Given the description of an element on the screen output the (x, y) to click on. 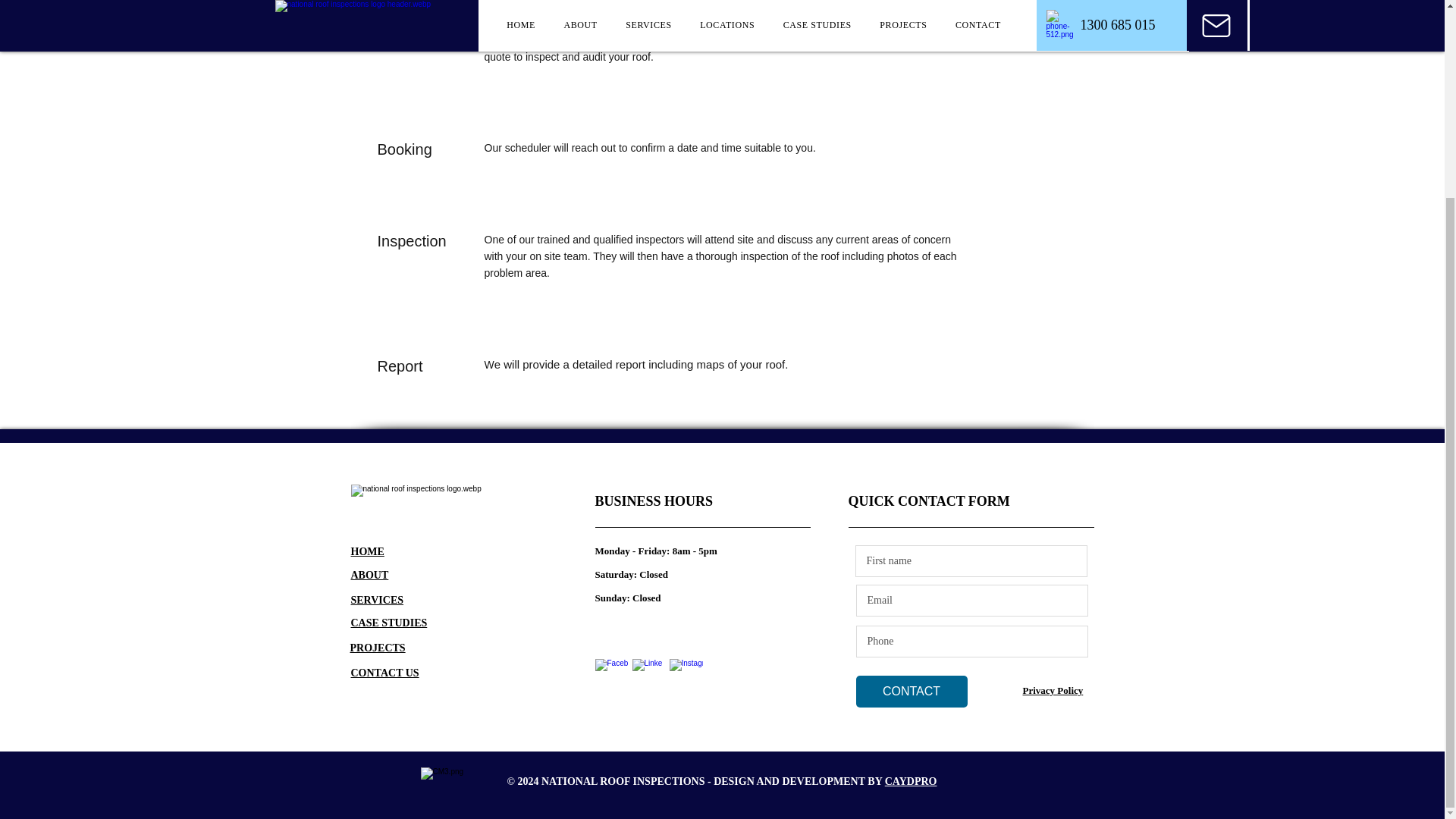
PROJECTS (378, 647)
CONTACT (911, 691)
Privacy Policy (1052, 690)
CONTACT US (384, 672)
CAYDPRO (911, 781)
ABOUT (369, 574)
HOME (367, 551)
CASE STUDIES (388, 622)
SERVICES (376, 599)
